Given the description of an element on the screen output the (x, y) to click on. 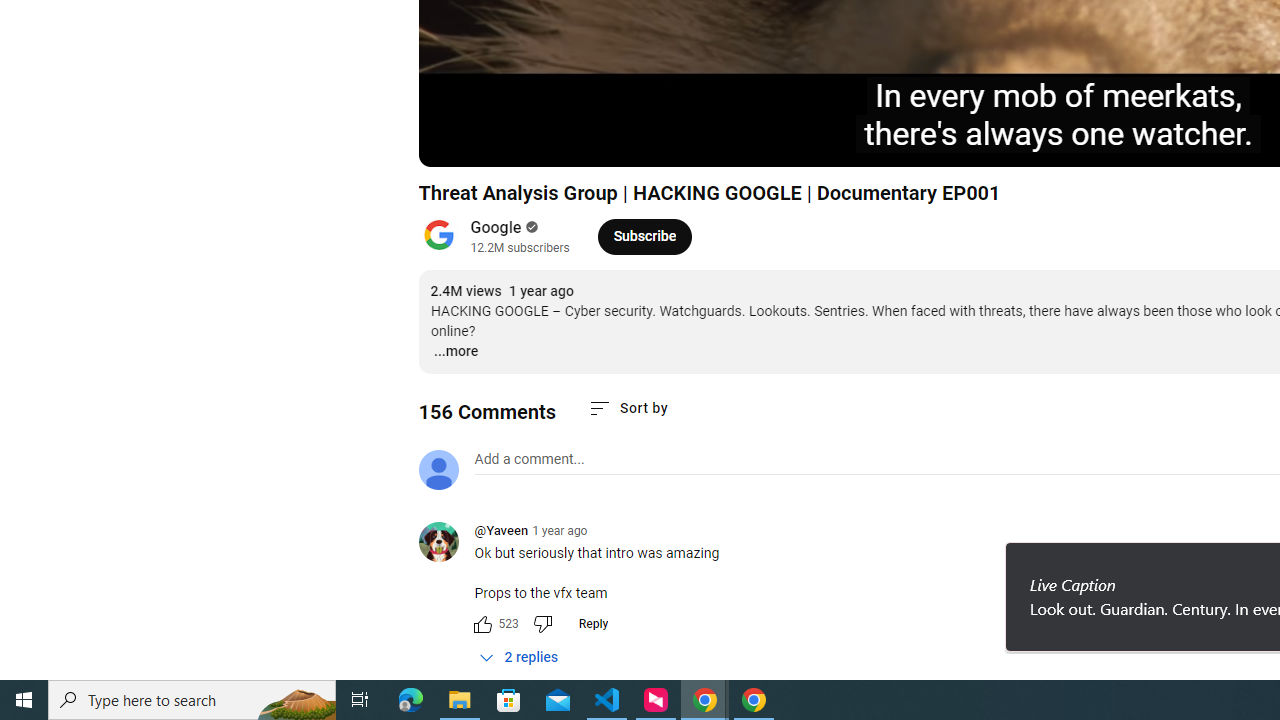
Sort comments (627, 408)
Default profile photo (438, 470)
...more (454, 352)
AutomationID: simplebox-placeholder (528, 459)
Subscribe to Google. (644, 236)
Pause (k) (453, 142)
Like this comment along with 523 other people (482, 623)
Reply (592, 623)
Dislike this comment (542, 623)
@Yaveen (500, 532)
@Yaveen (446, 543)
